Given the description of an element on the screen output the (x, y) to click on. 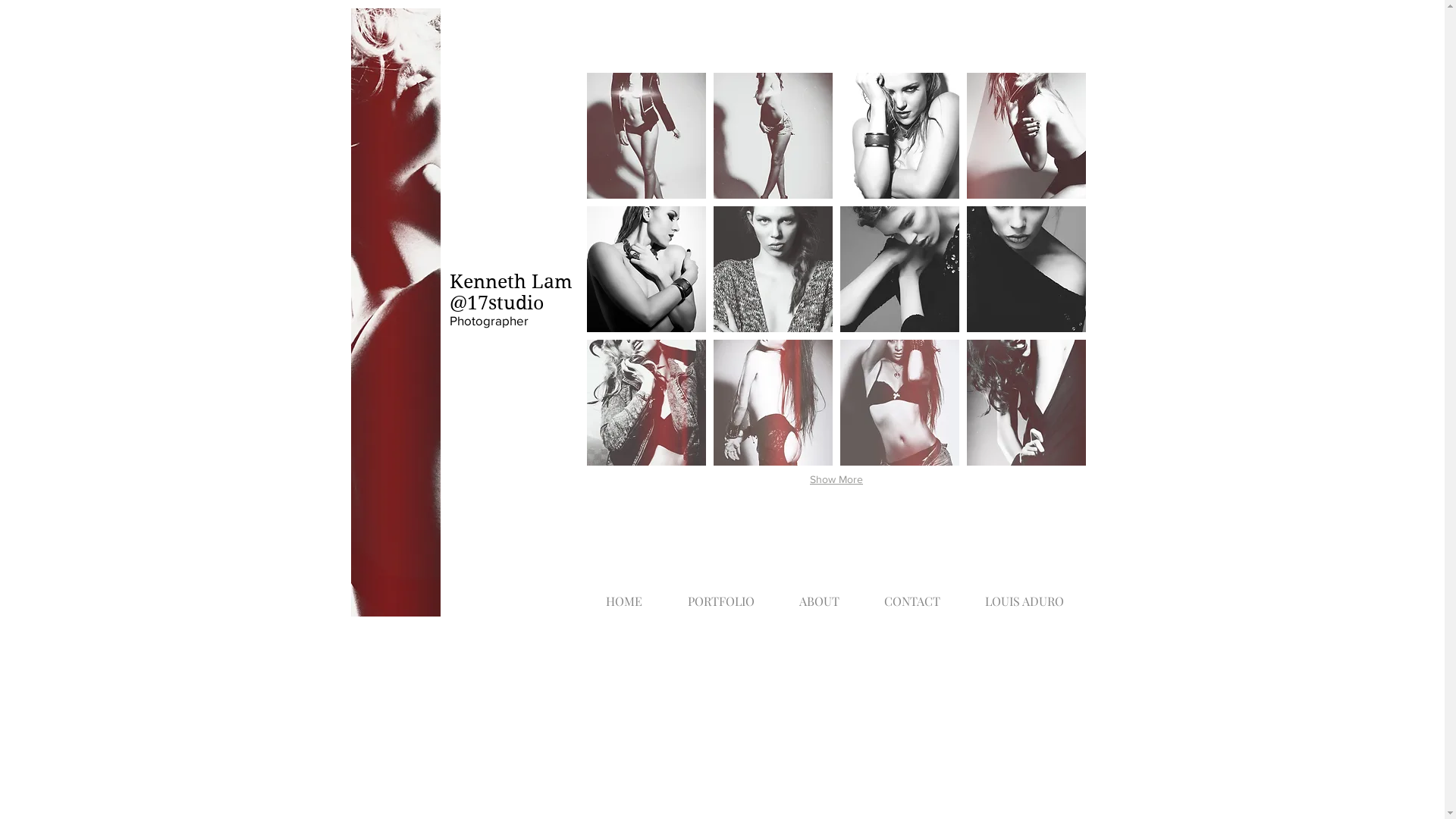
Show More Element type: text (836, 479)
HOME Element type: text (623, 594)
ABOUT Element type: text (818, 594)
CONTACT Element type: text (911, 594)
LOUIS ADURO Element type: text (1024, 594)
